Given the description of an element on the screen output the (x, y) to click on. 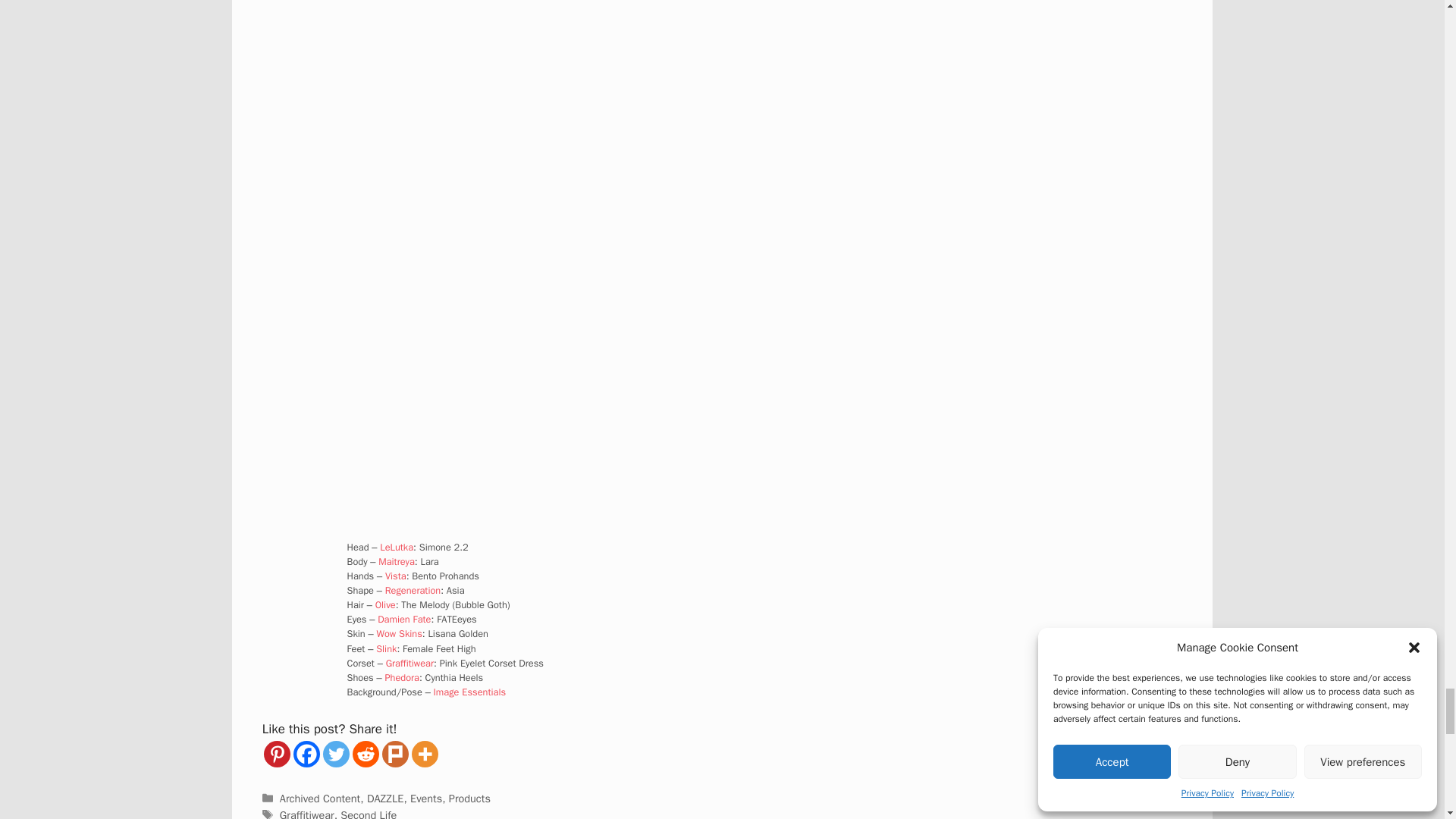
Twitter (336, 754)
Facebook (307, 754)
More (425, 754)
Reddit (365, 754)
Plurk (395, 754)
Pinterest (276, 754)
